Given the description of an element on the screen output the (x, y) to click on. 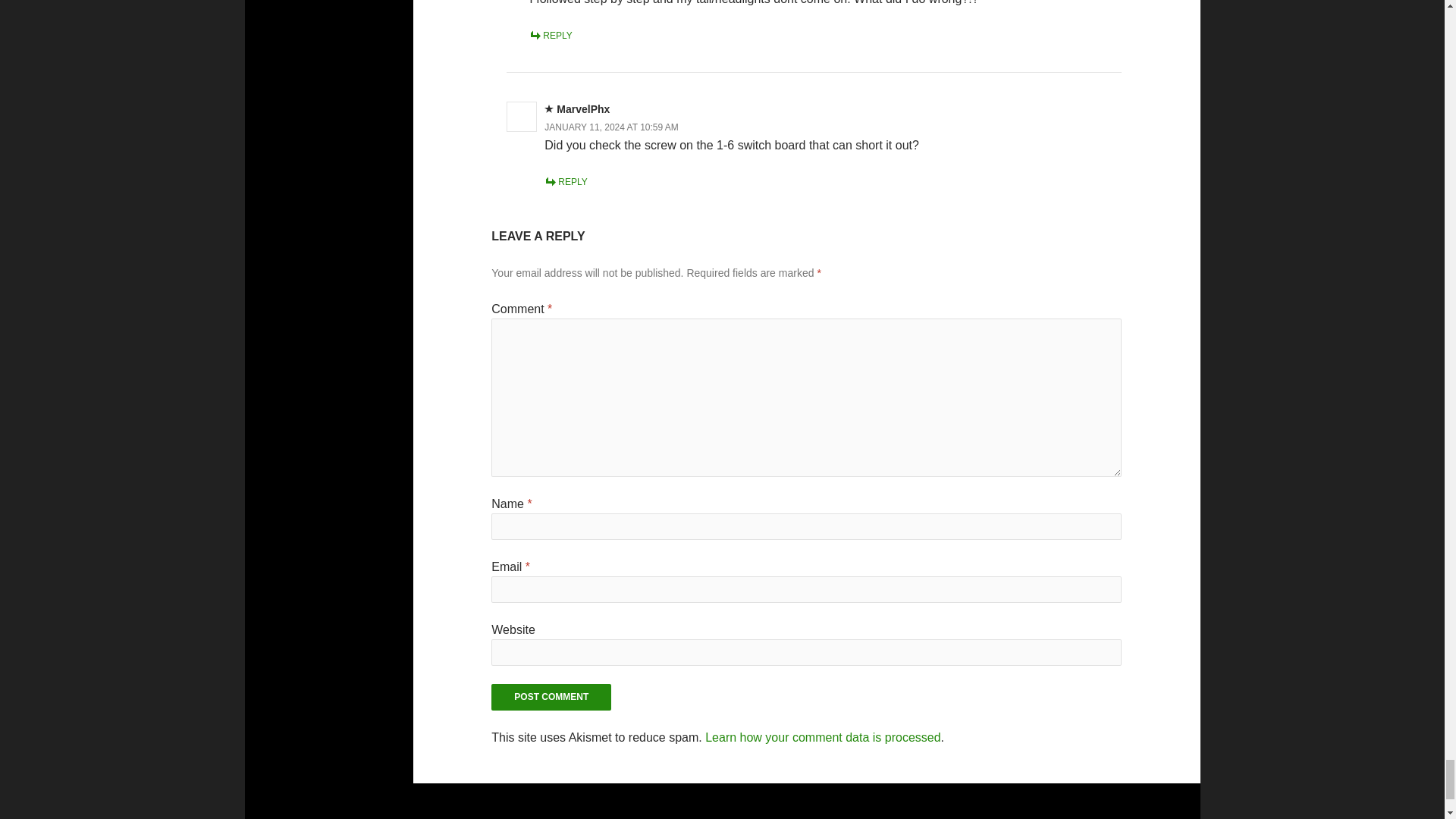
Post Comment (551, 696)
